Given the description of an element on the screen output the (x, y) to click on. 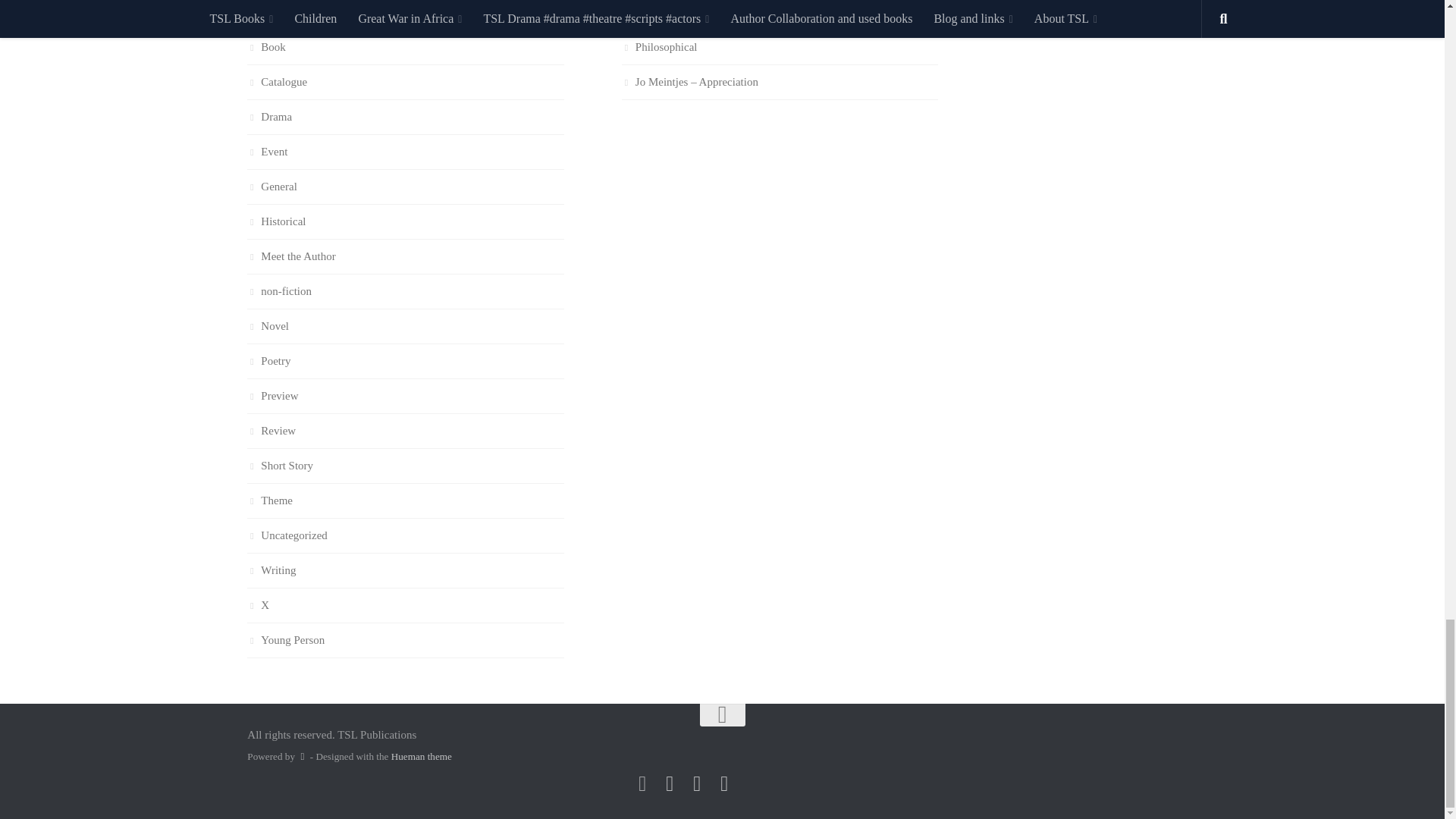
Follow us on Instagram (669, 783)
Hueman theme (421, 756)
Follow us on Mastodon (641, 783)
Powered by WordPress (302, 756)
